Given the description of an element on the screen output the (x, y) to click on. 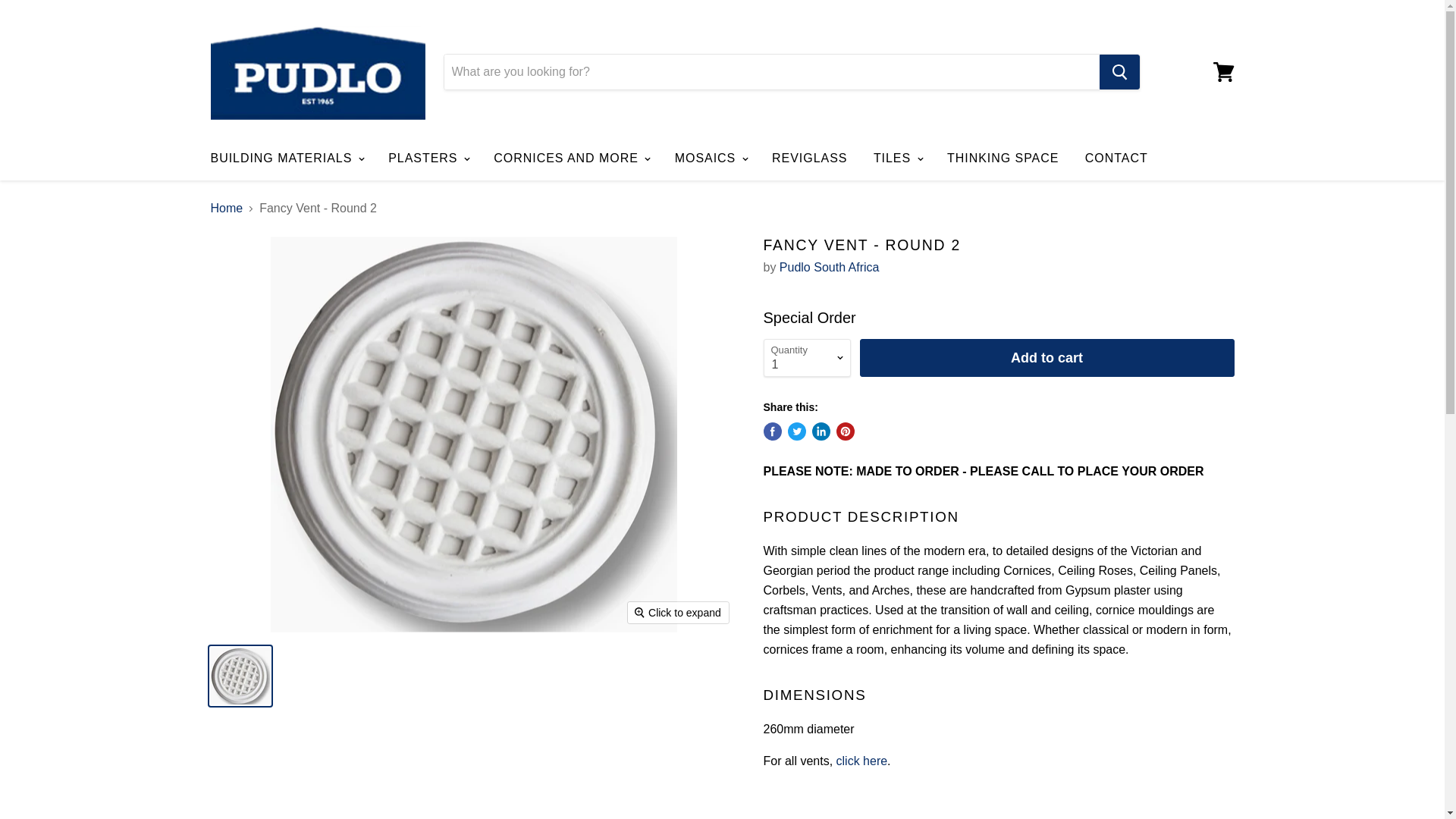
CORNICES AND MORE (570, 158)
BUILDING MATERIALS (285, 158)
PLASTERS (428, 158)
Page 1 (997, 744)
Pudlo South Africa (828, 267)
View cart (1223, 71)
MOSAICS (710, 158)
